Given the description of an element on the screen output the (x, y) to click on. 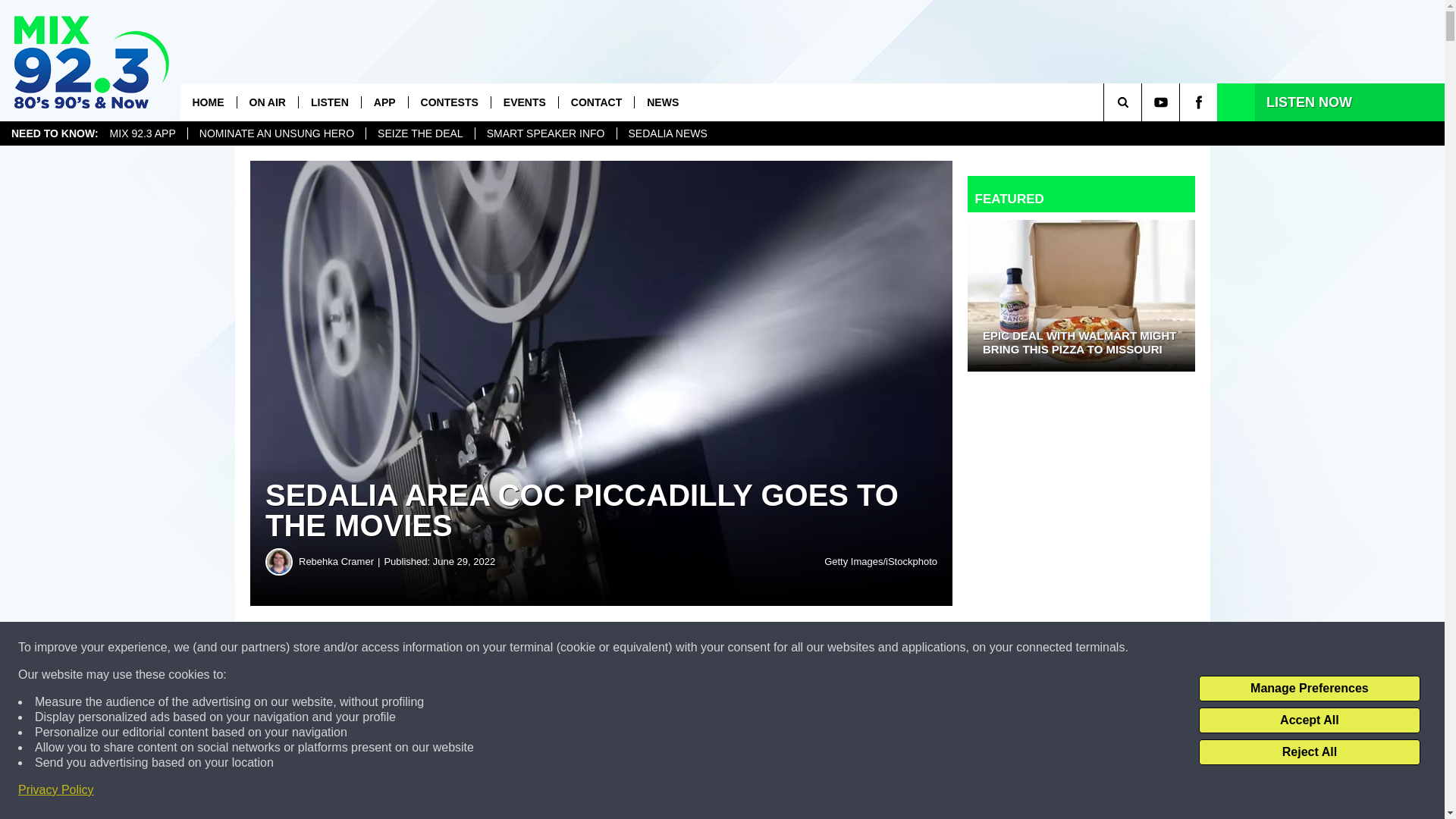
HOME (207, 102)
SEARCH (1144, 102)
MIX 92.3 APP (143, 133)
Reject All (1309, 751)
CONTESTS (448, 102)
SEARCH (1144, 102)
LISTEN (329, 102)
Manage Preferences (1309, 688)
NOMINATE AN UNSUNG HERO (276, 133)
Accept All (1309, 720)
APP (384, 102)
SEIZE THE DEAL (419, 133)
SEDALIA NEWS (667, 133)
ON AIR (266, 102)
Privacy Policy (55, 789)
